Given the description of an element on the screen output the (x, y) to click on. 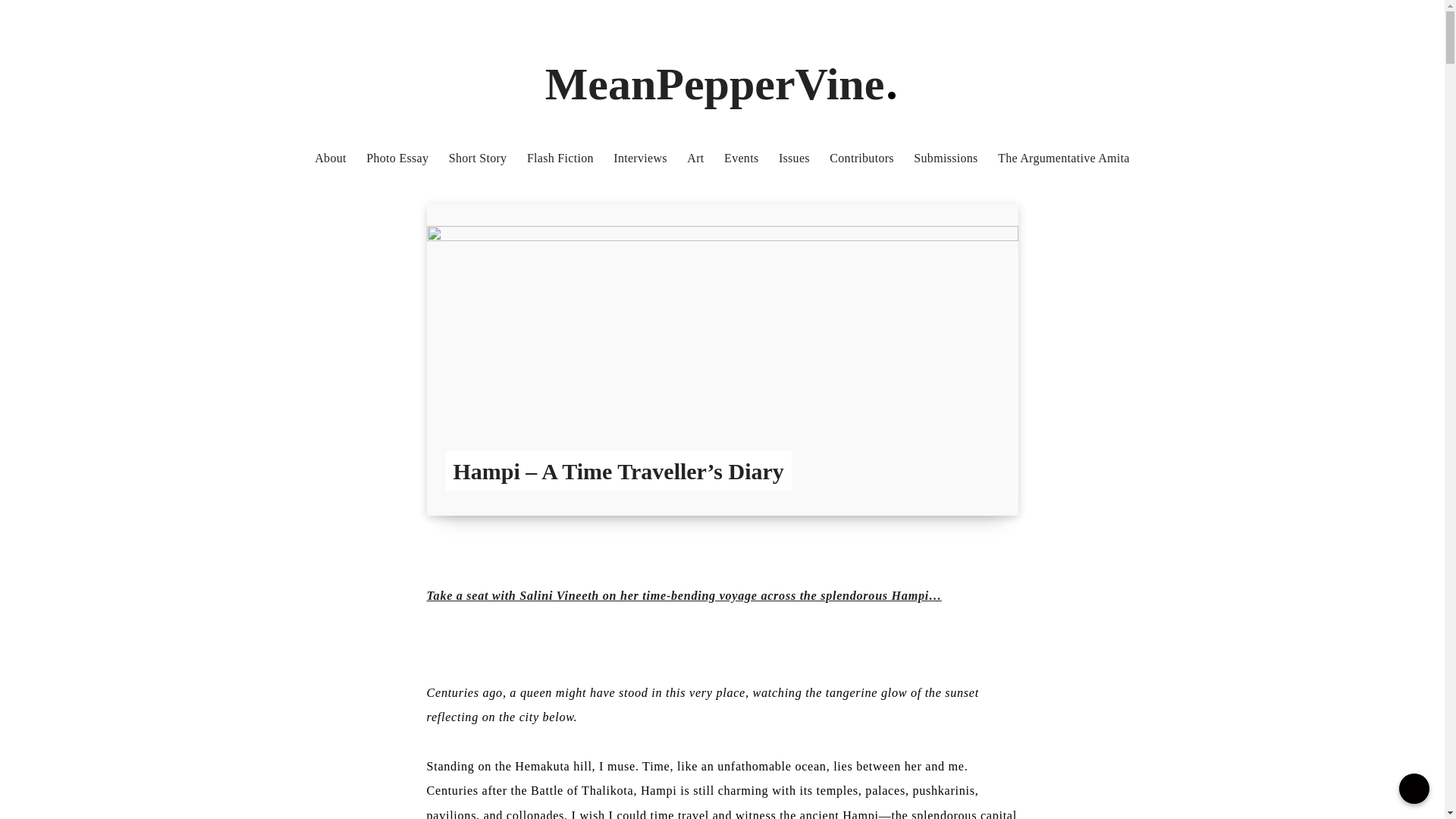
Events (740, 158)
Contributors (861, 158)
Flash Fiction (560, 158)
The Argumentative Amita (1063, 158)
Short Story (477, 158)
About (330, 158)
Battle of Thalikota (582, 790)
Issues (793, 158)
Submissions (945, 158)
MeanPepperVine (721, 83)
Photo Essay (397, 158)
pushkarinis (943, 790)
Interviews (639, 158)
Art (695, 158)
